Given the description of an element on the screen output the (x, y) to click on. 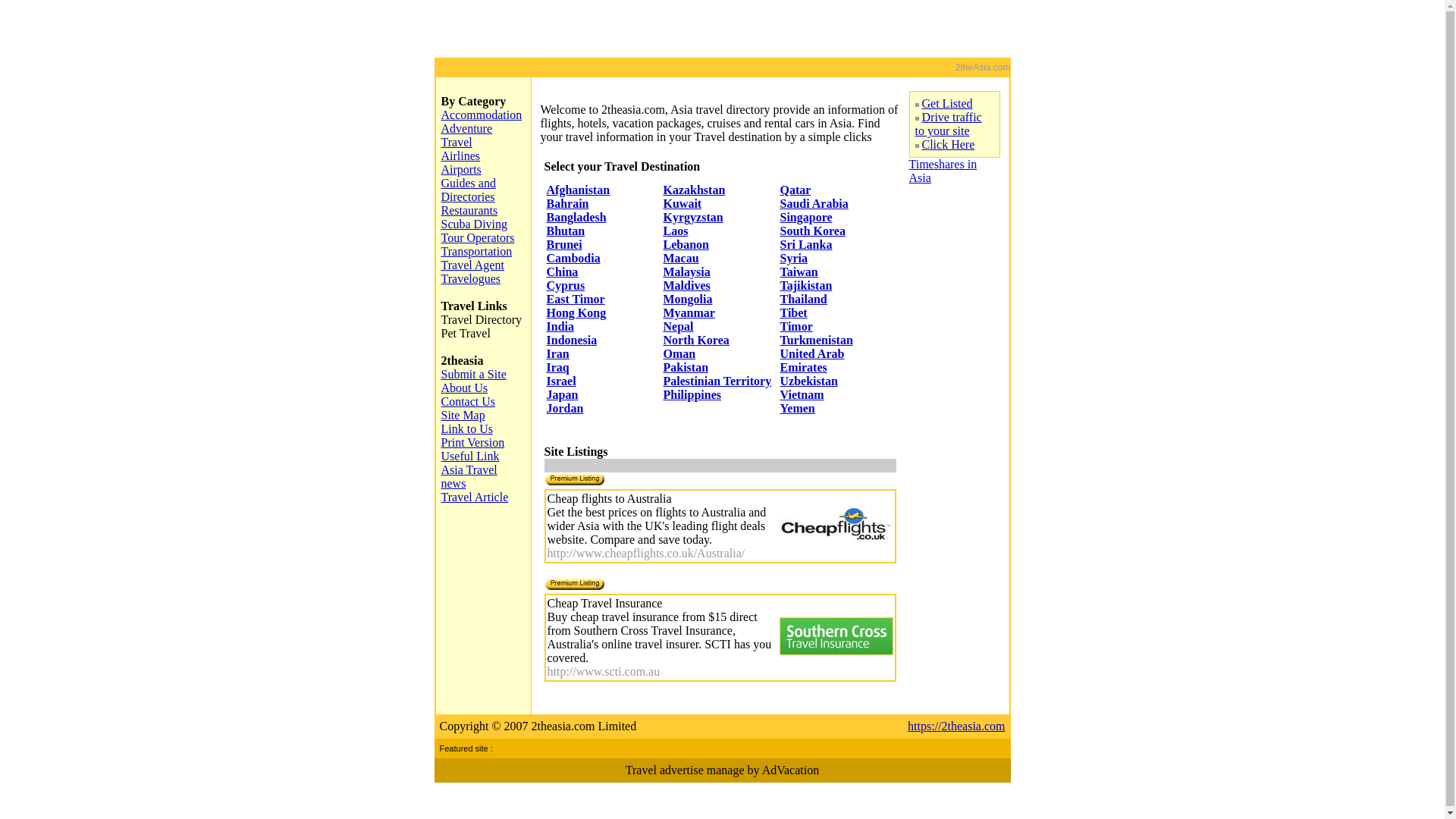
Print Version Element type: text (473, 442)
Drive traffic to your site Element type: text (947, 123)
Get Listed Element type: text (947, 103)
Macau Element type: text (680, 257)
Iran Element type: text (557, 353)
About Us Element type: text (464, 387)
Taiwan Element type: text (798, 271)
Yemen Element type: text (796, 407)
Timor Element type: text (795, 326)
Sri Lanka Element type: text (805, 244)
North Korea Element type: text (695, 339)
China Element type: text (561, 271)
Laos Element type: text (674, 230)
Submit a Site Element type: text (473, 373)
Timeshares in Asia Element type: text (942, 170)
Pakistan Element type: text (685, 366)
Airlines Element type: text (460, 155)
Israel Element type: text (560, 380)
Transportation Element type: text (476, 250)
India Element type: text (559, 326)
Myanmar Element type: text (688, 312)
Site Map Element type: text (463, 414)
Hong Kong Element type: text (575, 312)
Palestinian Territory Element type: text (716, 380)
Guides and Directories Element type: text (468, 189)
Japan Element type: text (561, 394)
Tour Operators Element type: text (477, 237)
Tajikistan Element type: text (805, 285)
Adventure Travel Element type: text (466, 135)
Bhutan Element type: text (565, 230)
Tibet Element type: text (792, 312)
Oman Element type: text (678, 353)
Saudi Arabia Element type: text (813, 203)
Restaurants Element type: text (469, 209)
Travelogues Element type: text (471, 278)
Vietnam Element type: text (801, 394)
Mongolia Element type: text (687, 298)
Bangladesh Element type: text (575, 216)
Brunei Element type: text (563, 244)
United Arab Emirates Element type: text (811, 360)
Iraq Element type: text (557, 366)
Useful Link Element type: text (470, 455)
Philippines Element type: text (691, 394)
Travel Agent Element type: text (472, 264)
Uzbekistan Element type: text (808, 380)
Nepal Element type: text (677, 326)
Airports Element type: text (461, 169)
Accommodation Element type: text (481, 114)
Maldives Element type: text (685, 285)
Travel Article Element type: text (474, 496)
Link to Us Element type: text (466, 428)
South Korea Element type: text (811, 230)
Syria Element type: text (792, 257)
Thailand Element type: text (802, 298)
https://2theasia.com Element type: text (955, 725)
Afghanistan Element type: text (577, 189)
Singapore Element type: text (805, 216)
Jordan Element type: text (564, 407)
Bahrain Element type: text (567, 203)
Lebanon Element type: text (685, 244)
Turkmenistan Element type: text (815, 339)
Cyprus Element type: text (565, 285)
East Timor Element type: text (575, 298)
Scuba Diving Element type: text (474, 223)
Qatar Element type: text (794, 189)
Kazakhstan Element type: text (693, 189)
Cambodia Element type: text (572, 257)
Malaysia Element type: text (685, 271)
Asia Travel news Element type: text (469, 476)
Contact Us Element type: text (468, 401)
Indonesia Element type: text (571, 339)
Kyrgyzstan Element type: text (692, 216)
Kuwait Element type: text (681, 203)
Click Here Element type: text (948, 144)
